Given the description of an element on the screen output the (x, y) to click on. 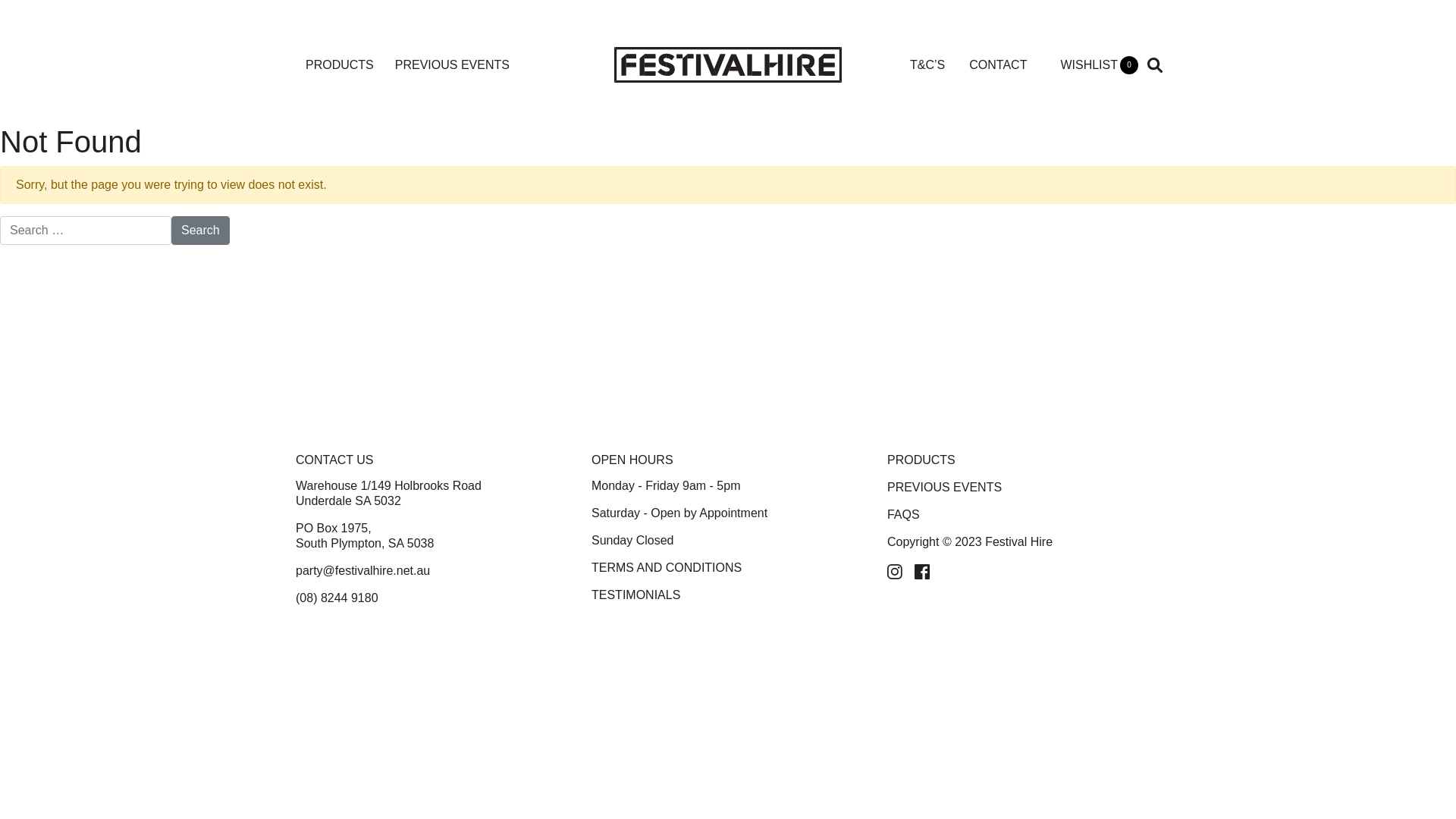
FAQS Element type: text (903, 514)
Festivalhire Element type: hover (727, 63)
TERMS AND CONDITIONS Element type: text (666, 567)
PRODUCTS Element type: text (921, 459)
PRODUCTS Element type: text (339, 65)
TESTIMONIALS Element type: text (635, 594)
party@festivalhire.net.au Element type: text (362, 570)
Search Element type: text (200, 230)
WISHLIST
0 Element type: text (1099, 65)
(08) 8244 9180 Element type: text (336, 597)
PREVIOUS EVENTS Element type: text (944, 486)
CONTACT Element type: text (997, 65)
PREVIOUS EVENTS Element type: text (451, 65)
